Given the description of an element on the screen output the (x, y) to click on. 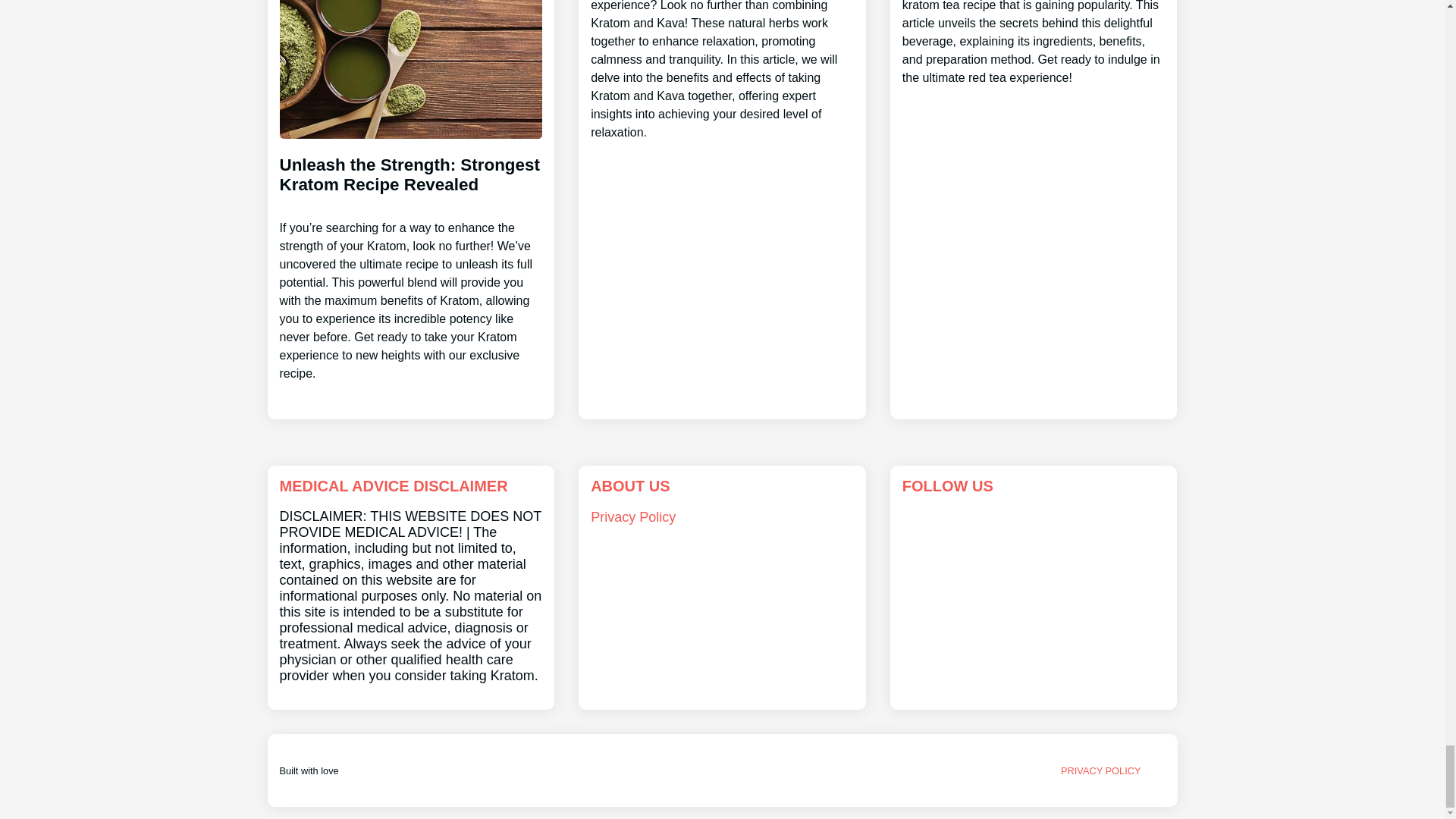
PRIVACY POLICY (1101, 770)
Privacy Policy (633, 516)
Unleash the Strength: Strongest Kratom Recipe Revealed (410, 255)
Red Tea Majesty: Red Kratom Tea Recipe Unveiled (1034, 43)
